Given the description of an element on the screen output the (x, y) to click on. 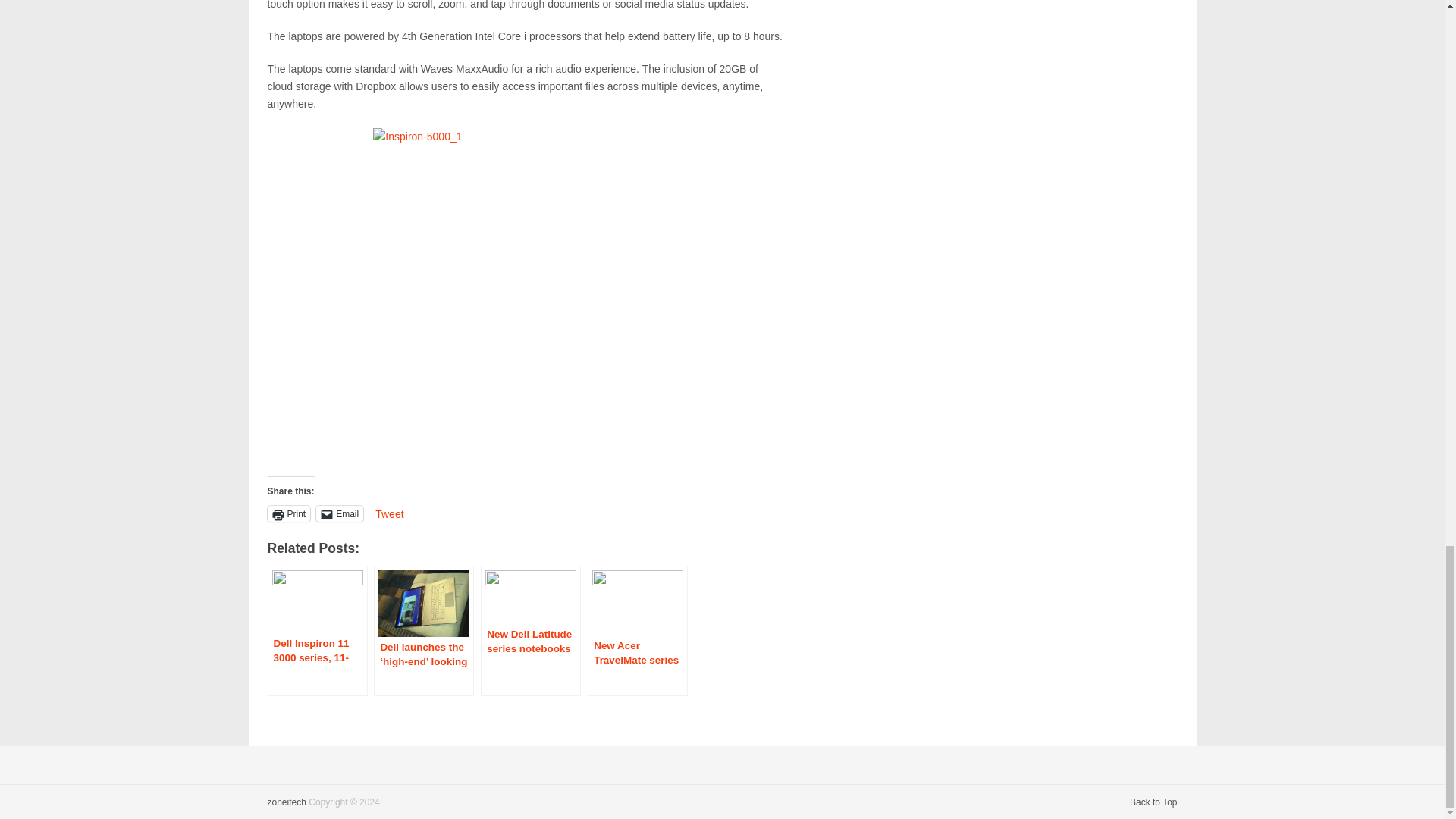
Manila's tech scene (285, 801)
Click to print (288, 513)
Tweet (389, 512)
Print (288, 513)
Email (338, 513)
Click to email a link to a friend (338, 513)
Back to Top (1152, 801)
zoneitech (285, 801)
